Given the description of an element on the screen output the (x, y) to click on. 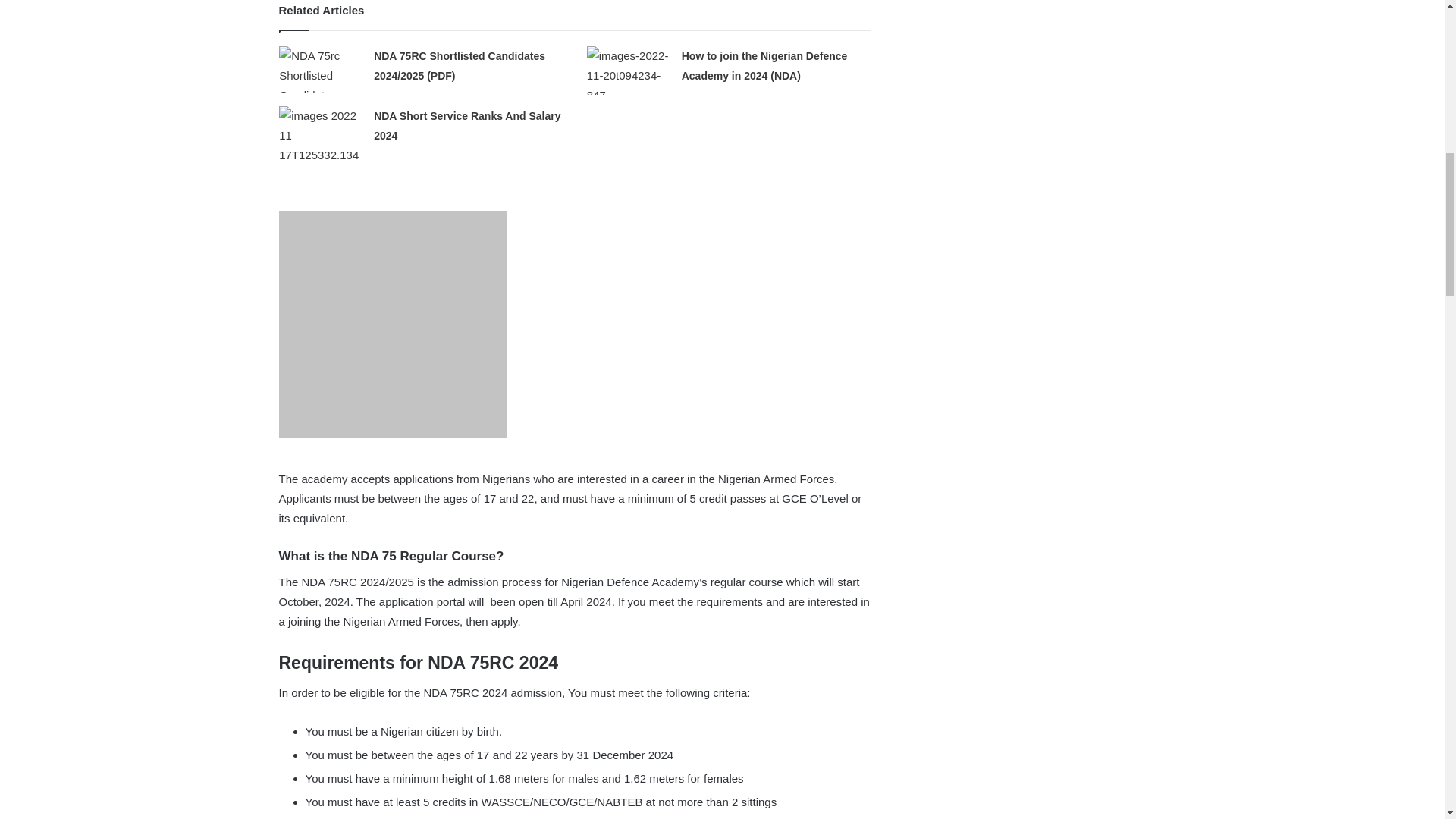
NDA Short Service Ranks And Salary 2024 (467, 125)
